Given the description of an element on the screen output the (x, y) to click on. 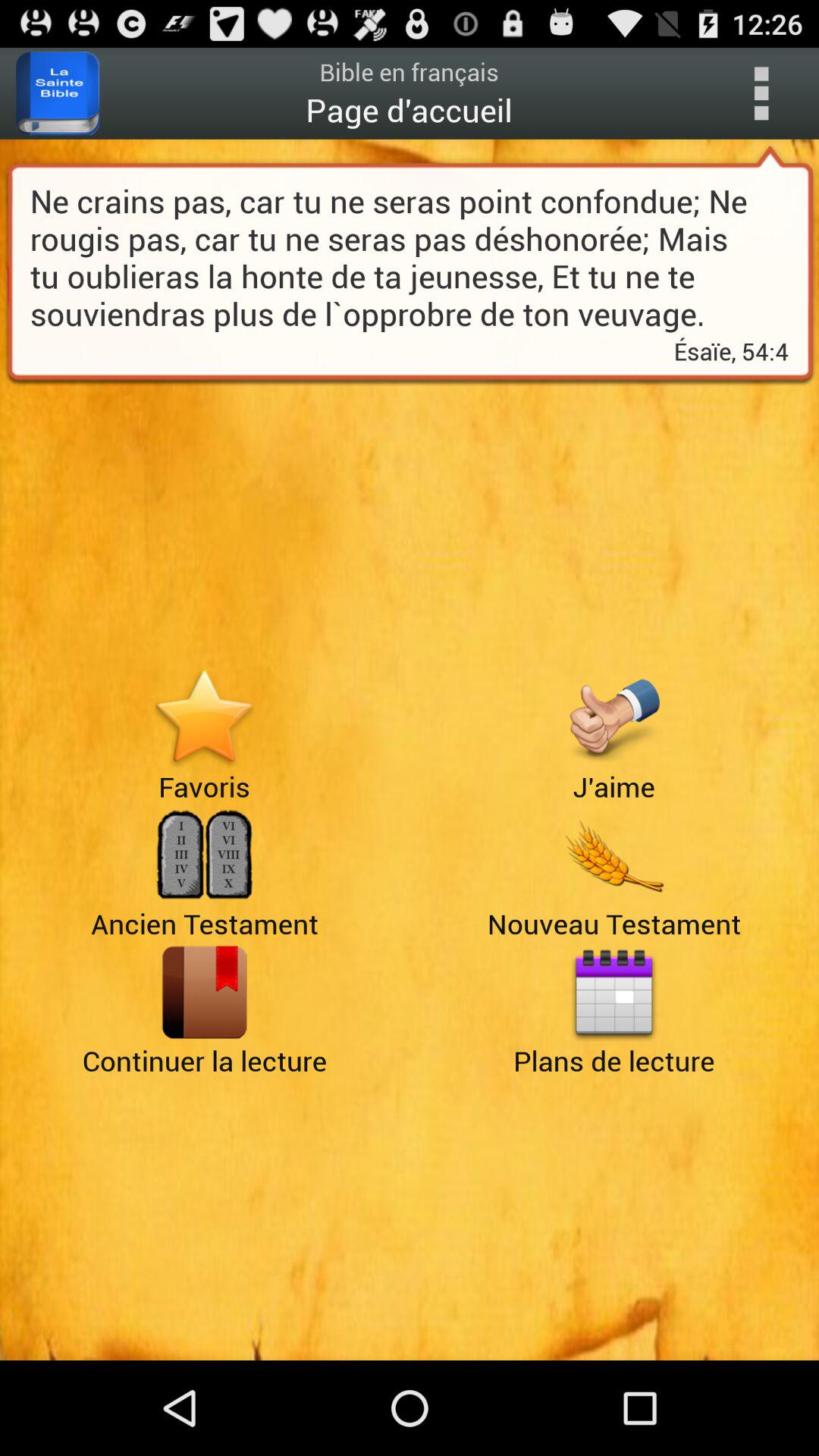
open j'aime button (613, 717)
